Given the description of an element on the screen output the (x, y) to click on. 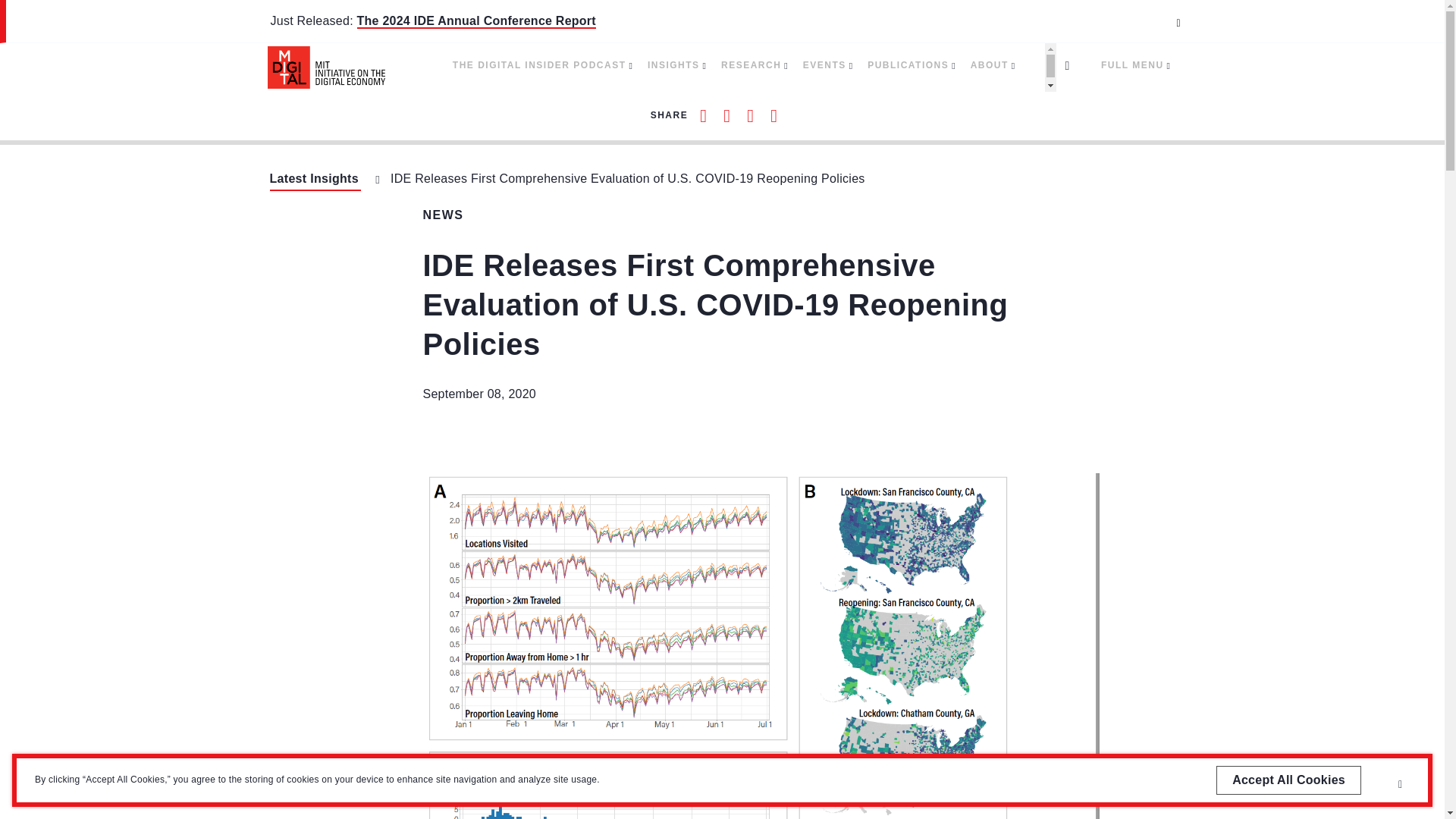
INSIGHTS (676, 65)
The 2024 IDE Annual Conference Report (475, 21)
EVENTS (827, 65)
RESEARCH (753, 65)
Accept All Cookies (1288, 779)
PUBLICATIONS (911, 65)
THE DIGITAL INSIDER PODCAST (541, 65)
